Given the description of an element on the screen output the (x, y) to click on. 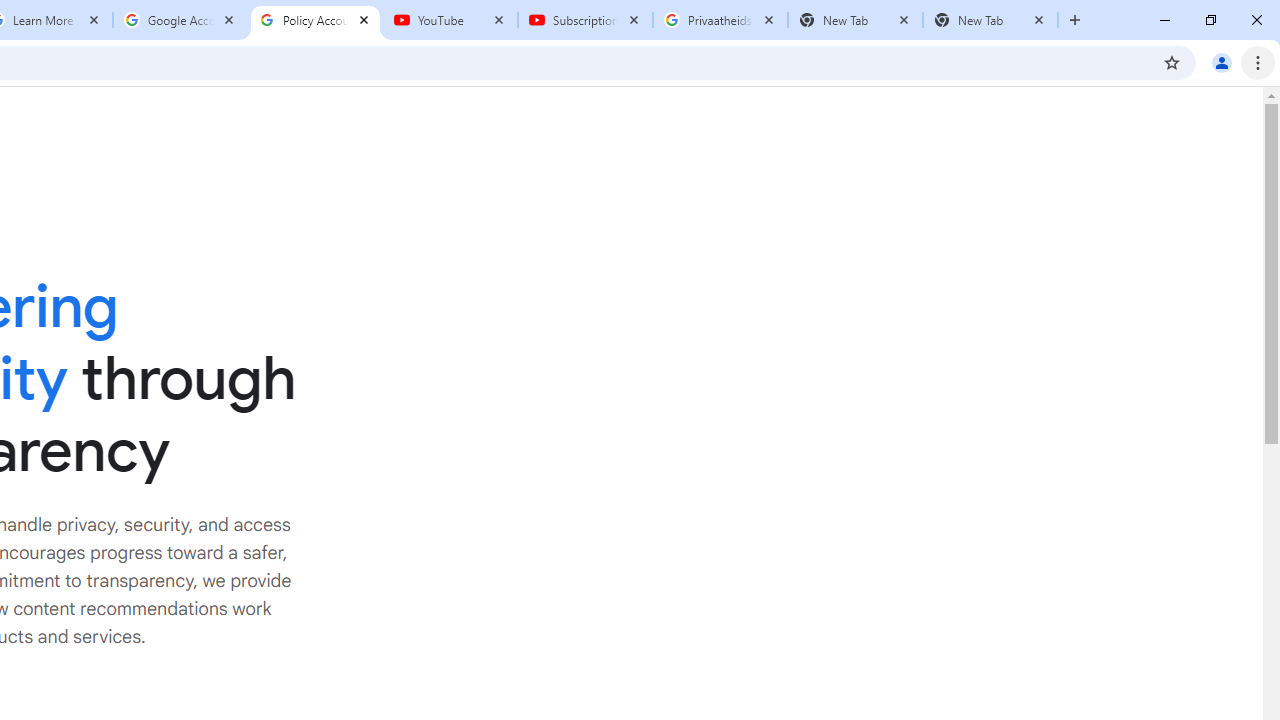
Google Account (180, 20)
Subscriptions - YouTube (585, 20)
YouTube (450, 20)
Policy Accountability and Transparency - Transparency Center (315, 20)
New Tab (990, 20)
